Given the description of an element on the screen output the (x, y) to click on. 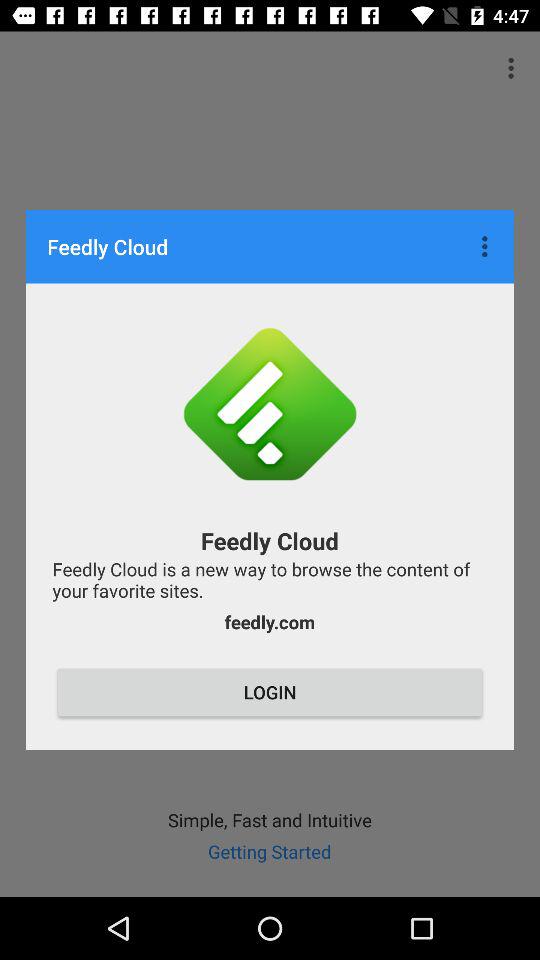
scroll to feedly.com (269, 621)
